Given the description of an element on the screen output the (x, y) to click on. 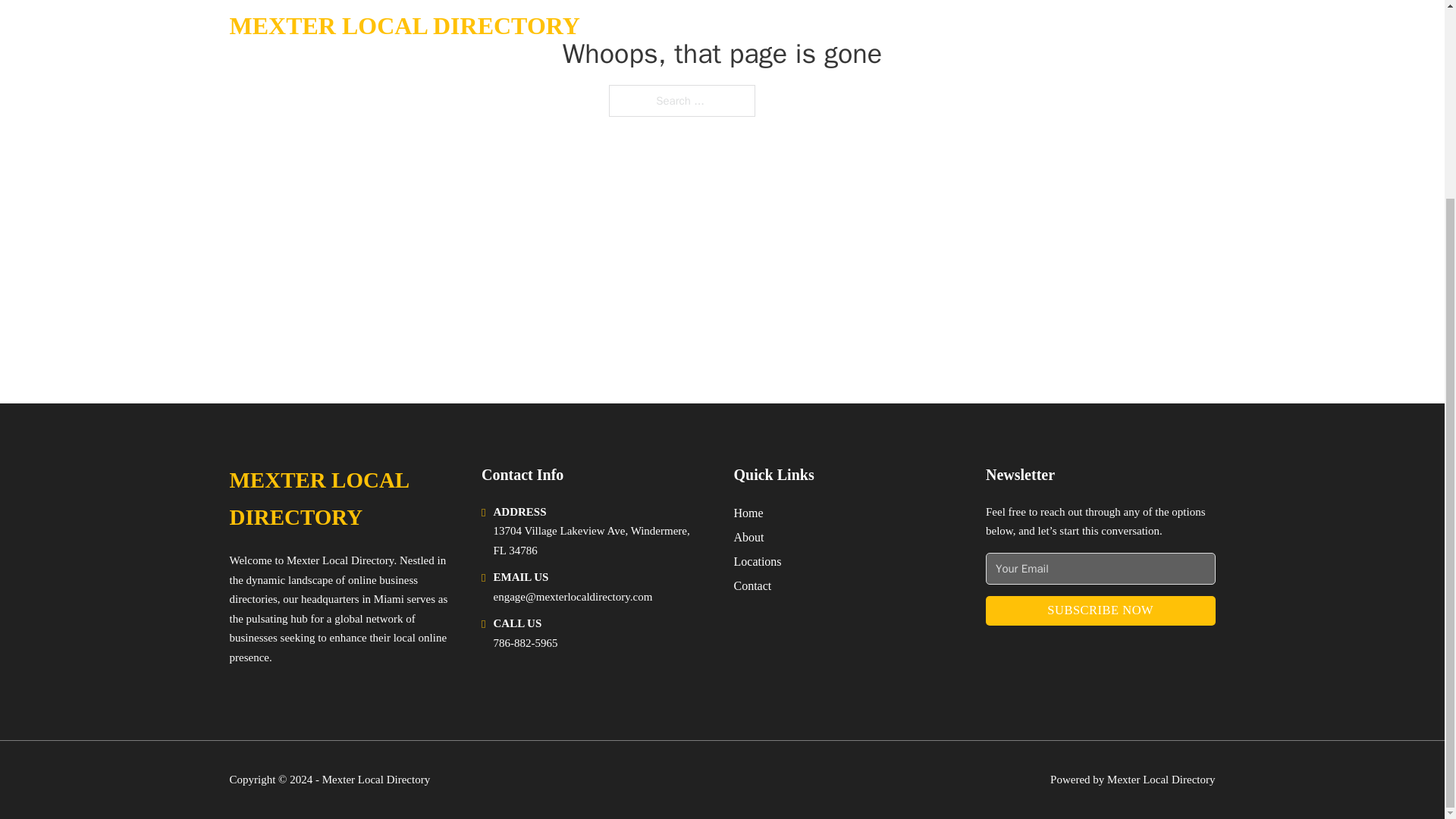
Locations (757, 561)
786-882-5965 (525, 643)
SUBSCRIBE NOW (1100, 610)
Contact (752, 585)
About (748, 537)
MEXTER LOCAL DIRECTORY (343, 499)
Home (747, 512)
